Given the description of an element on the screen output the (x, y) to click on. 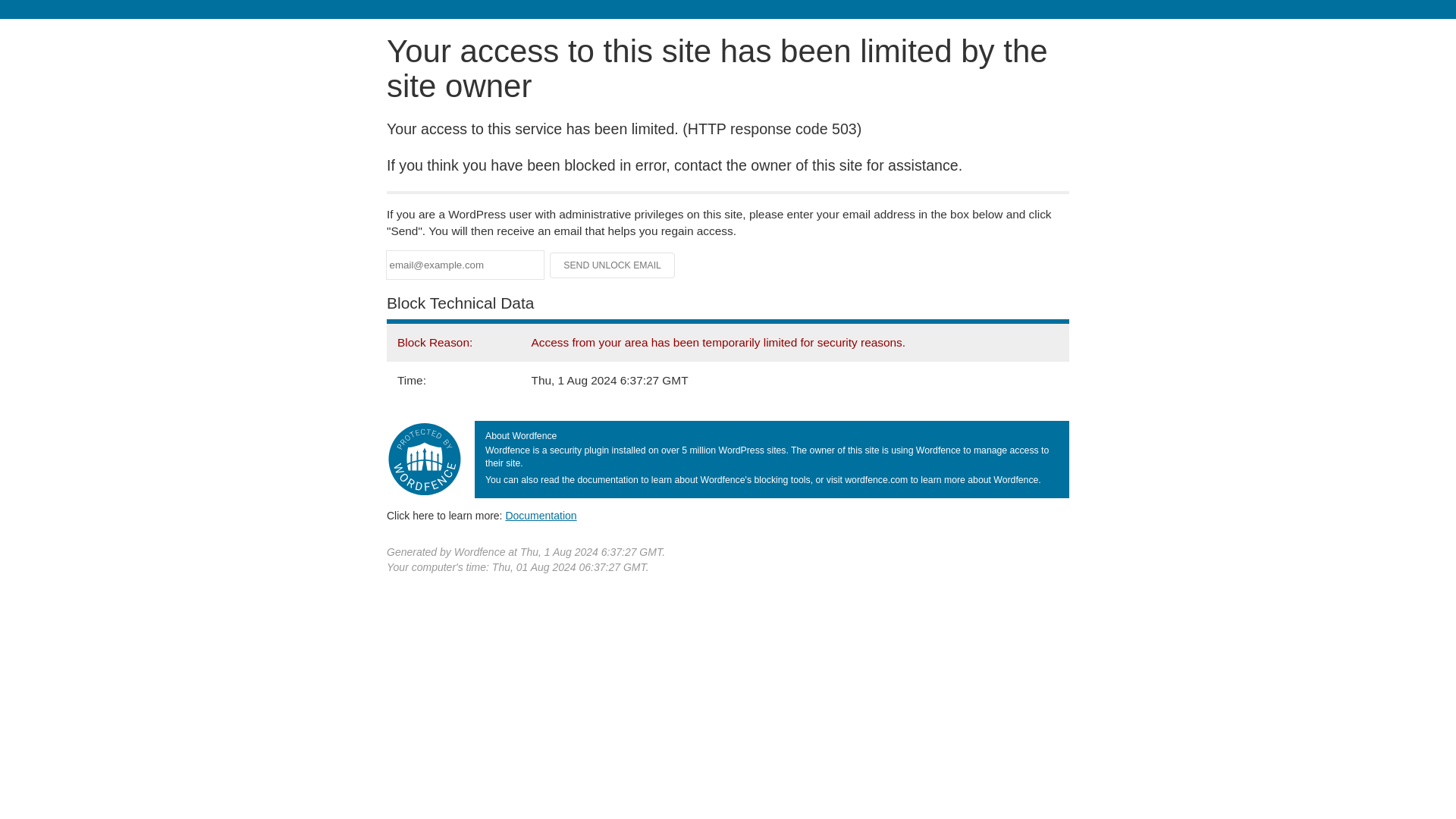
Send Unlock Email (612, 265)
Documentation (540, 515)
Send Unlock Email (612, 265)
